Given the description of an element on the screen output the (x, y) to click on. 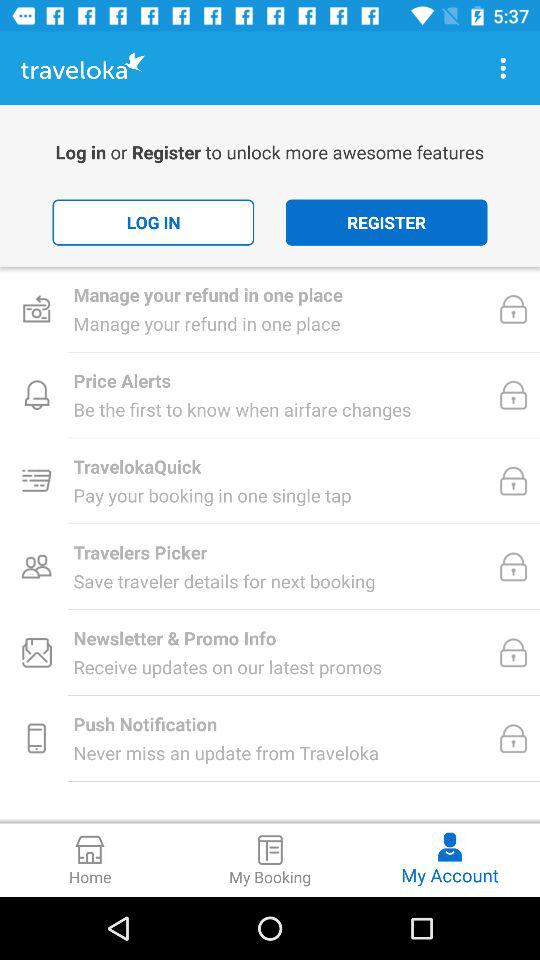
more information (503, 68)
